Given the description of an element on the screen output the (x, y) to click on. 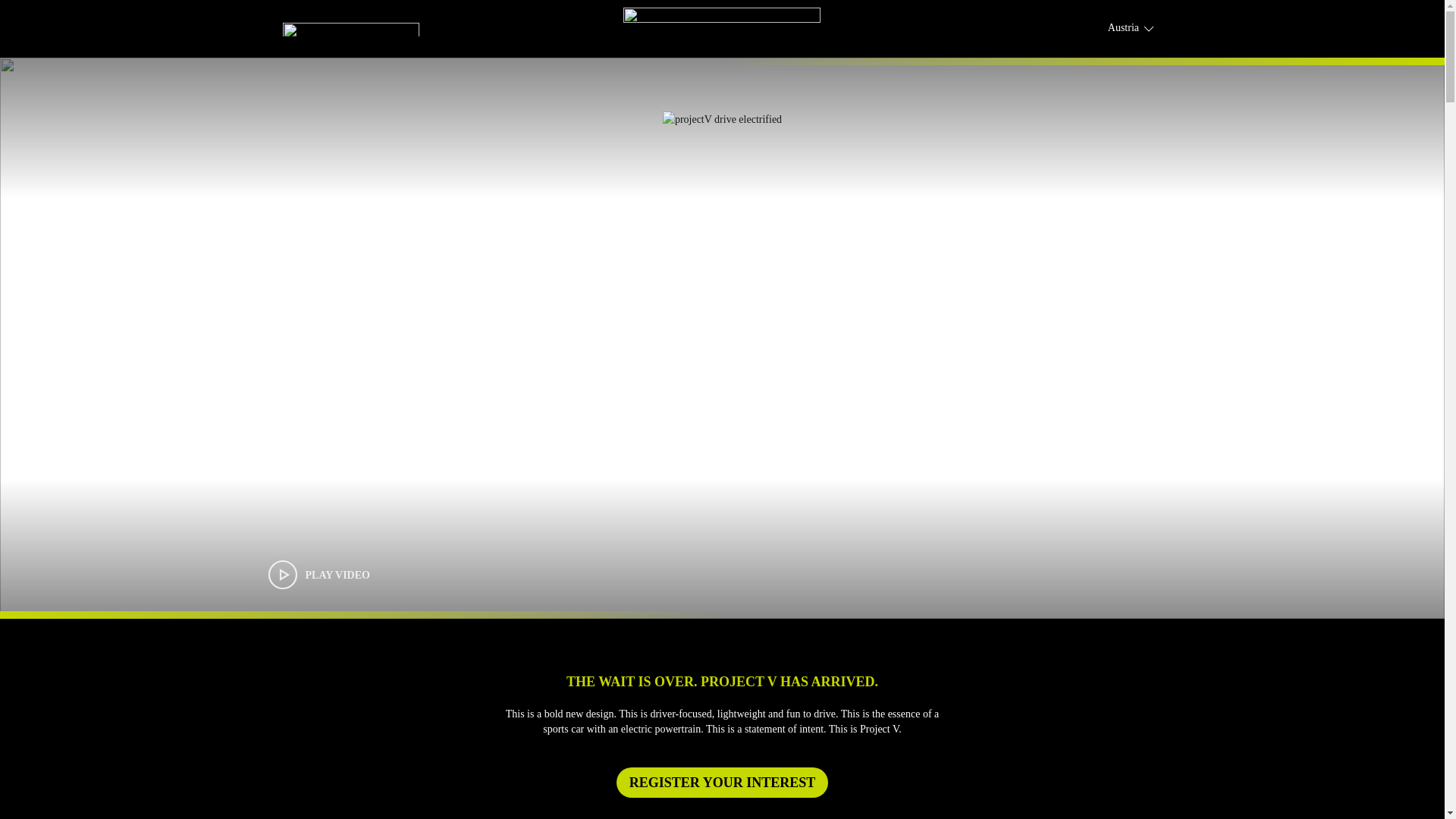
REGISTER YOUR INTEREST (721, 782)
THE WAIT IS OVER. PROJECT V HAS ARRIVED. (721, 681)
